Given the description of an element on the screen output the (x, y) to click on. 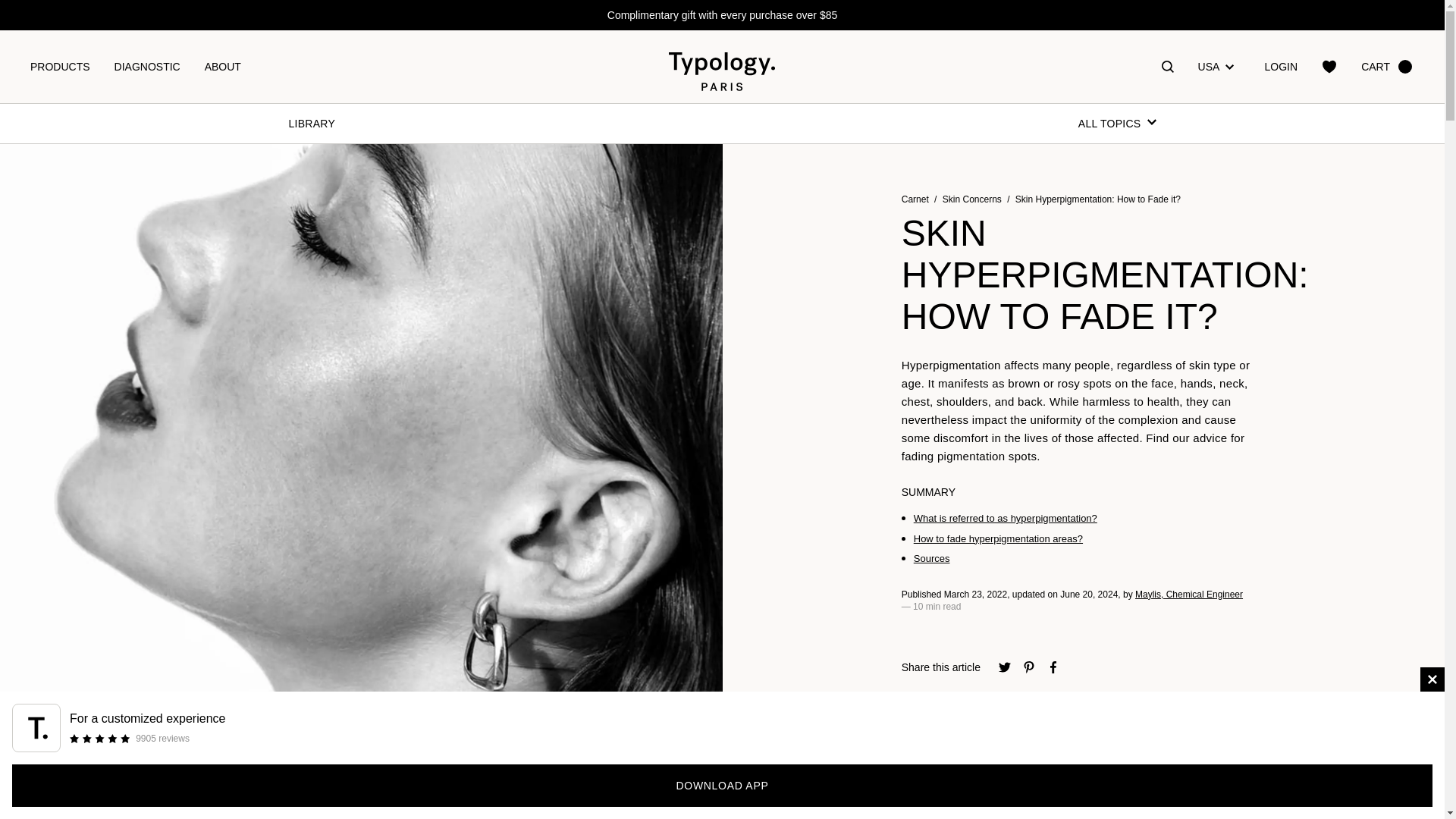
PRODUCTS (59, 66)
